Given the description of an element on the screen output the (x, y) to click on. 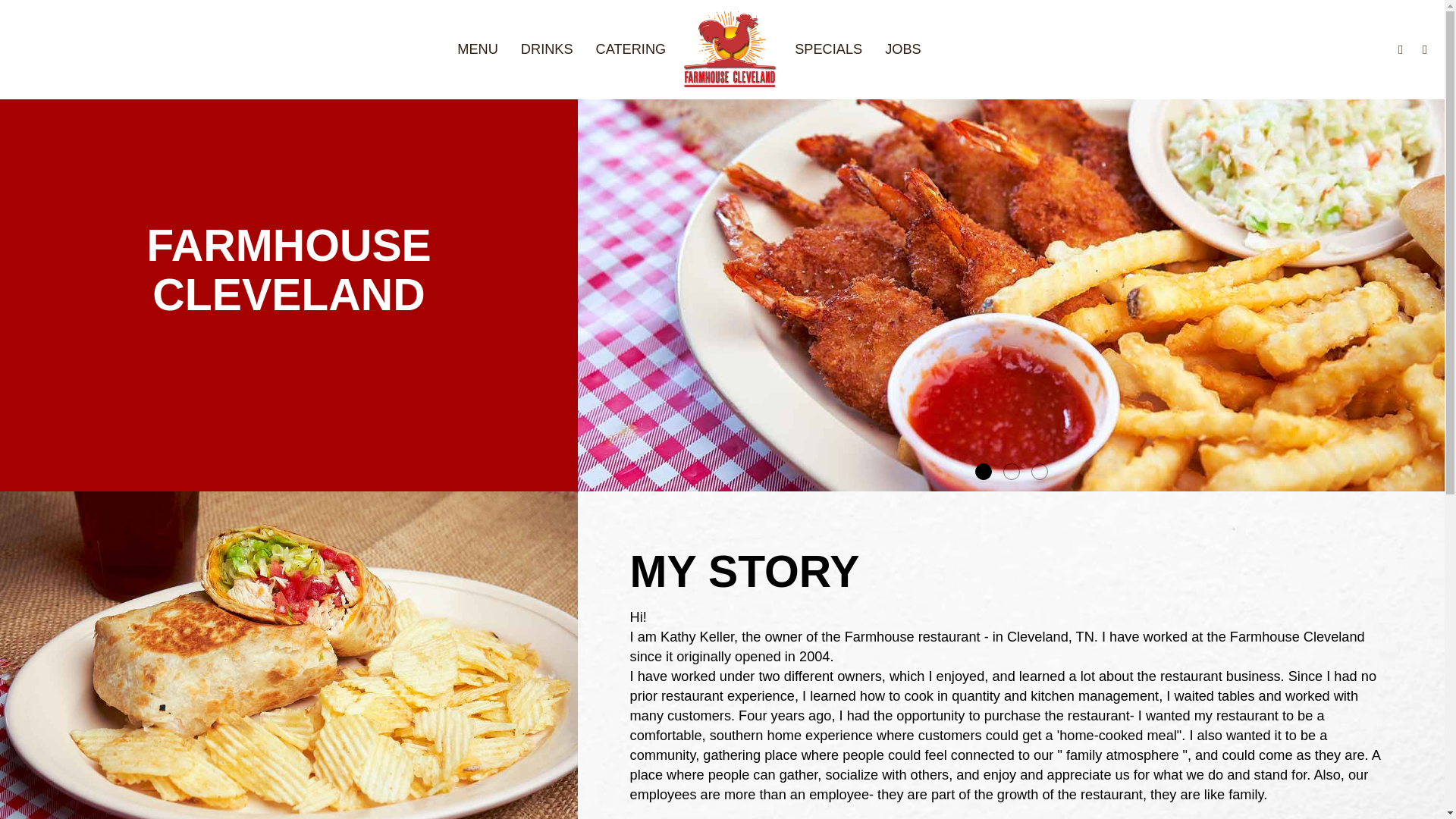
DRINKS (547, 48)
SPECIALS (828, 48)
CATERING (631, 48)
JOBS (903, 48)
MENU (477, 48)
